Given the description of an element on the screen output the (x, y) to click on. 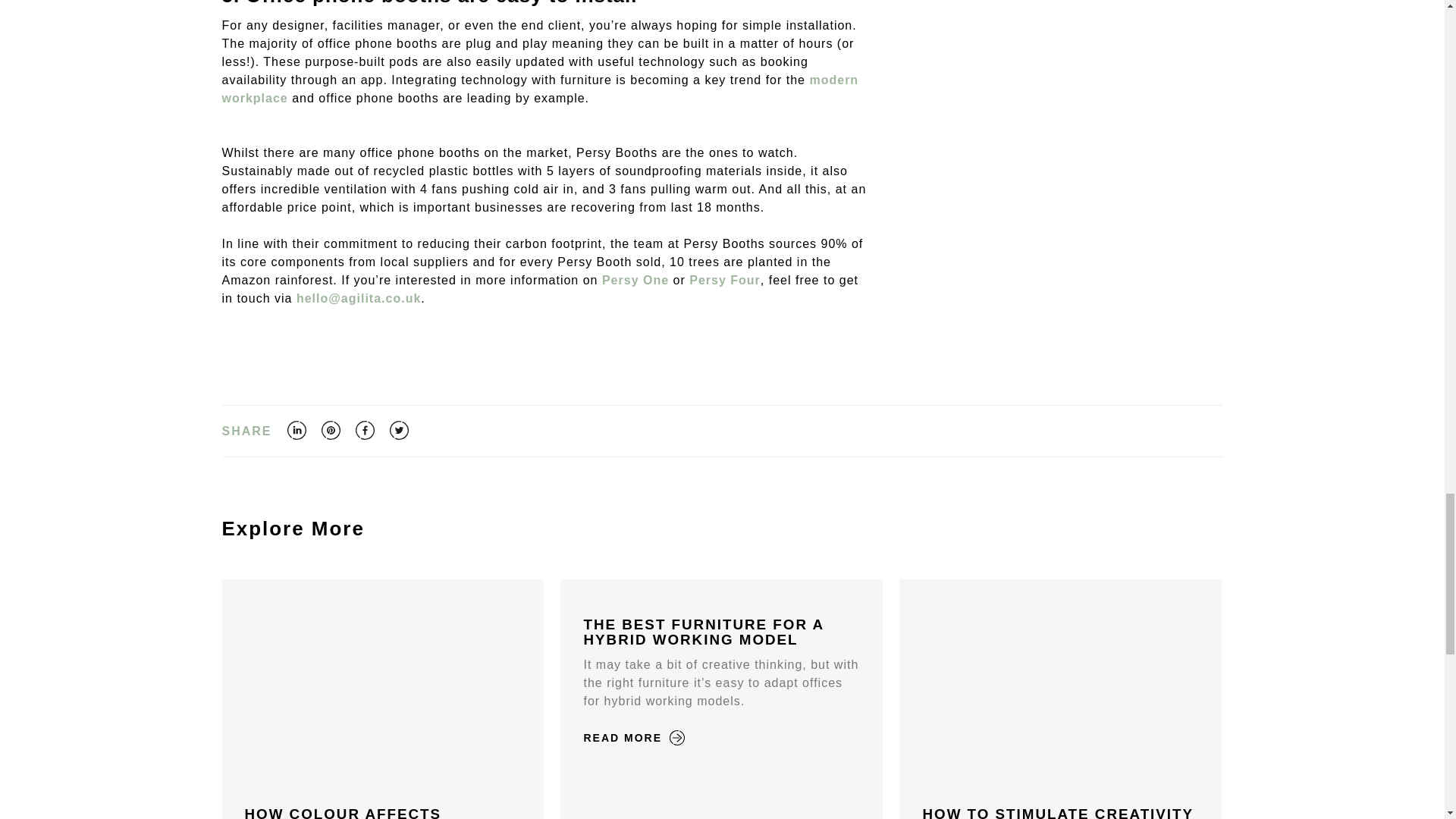
Persy One (635, 279)
modern workplace (540, 88)
Persy Four (724, 279)
